Given the description of an element on the screen output the (x, y) to click on. 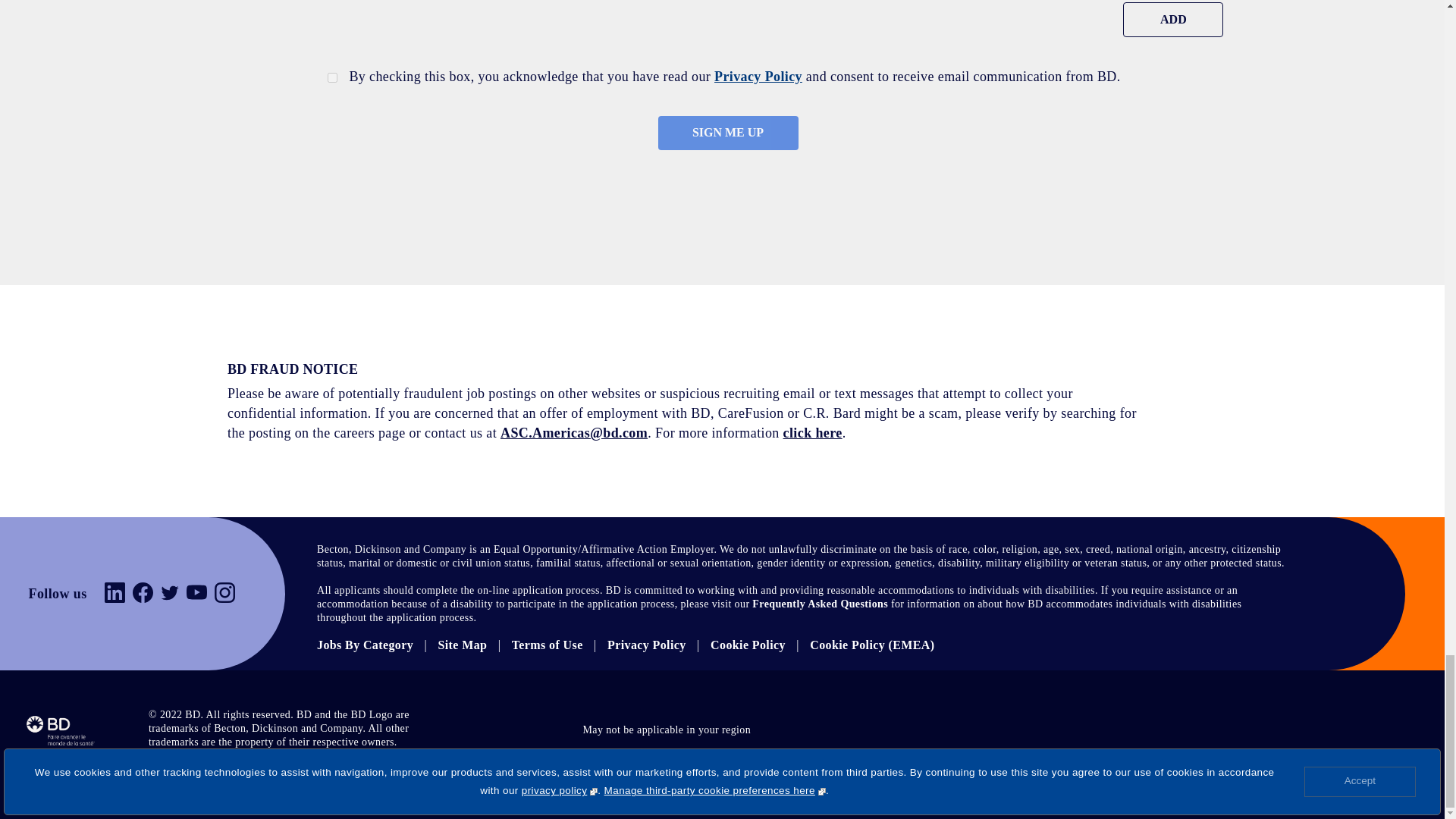
go to our sitemap (462, 644)
go to our terms of use (547, 644)
go to our privacy policy (646, 644)
go to our cookie policy (748, 644)
go to our jobs by category (365, 644)
